Given the description of an element on the screen output the (x, y) to click on. 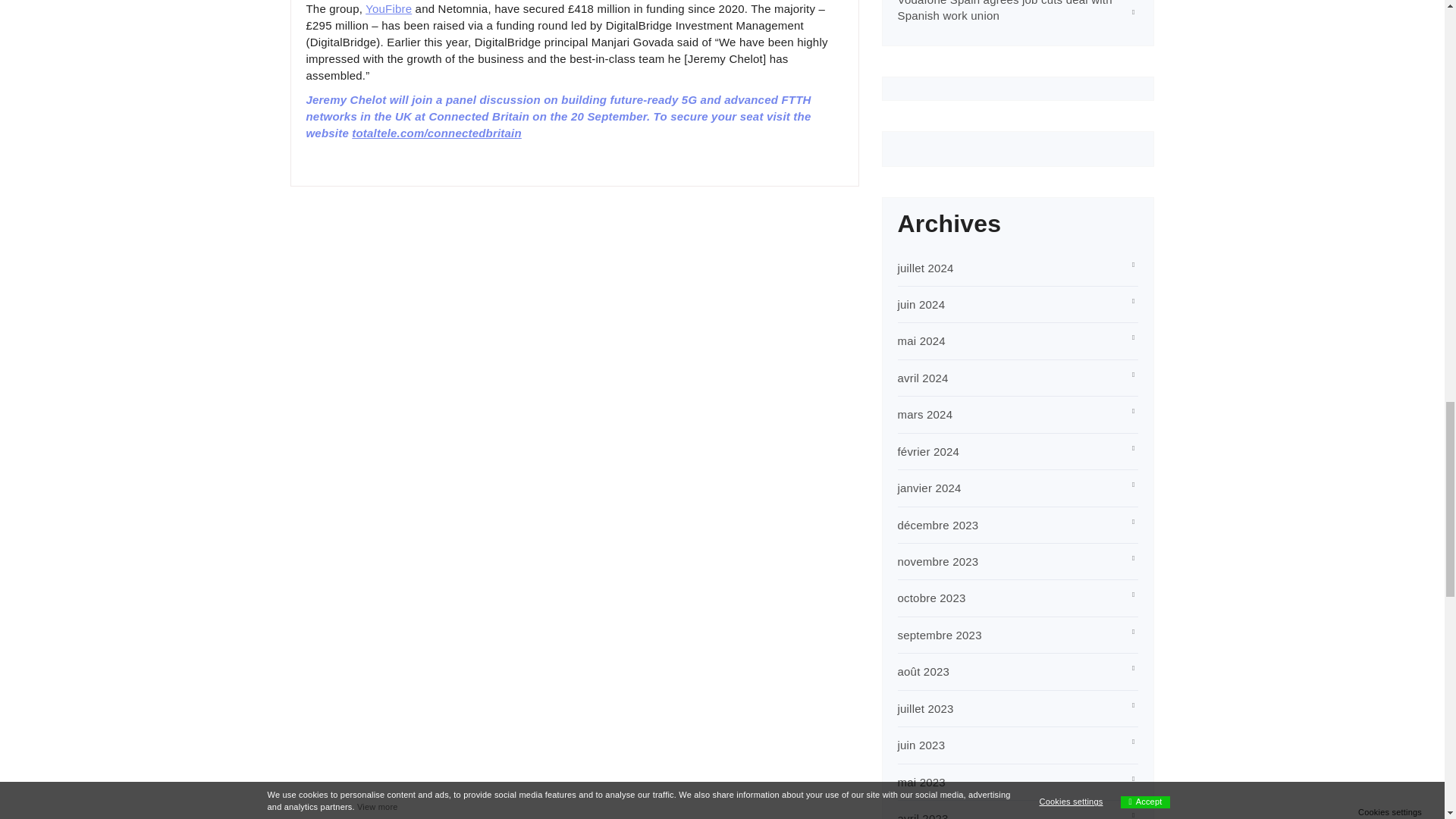
juin 2024 (921, 304)
YouFibre (388, 8)
mars 2024 (925, 413)
juillet 2024 (925, 267)
avril 2024 (923, 377)
Vodafone Spain agrees job cuts deal with Spanish work union  (1005, 11)
mai 2024 (921, 340)
